Given the description of an element on the screen output the (x, y) to click on. 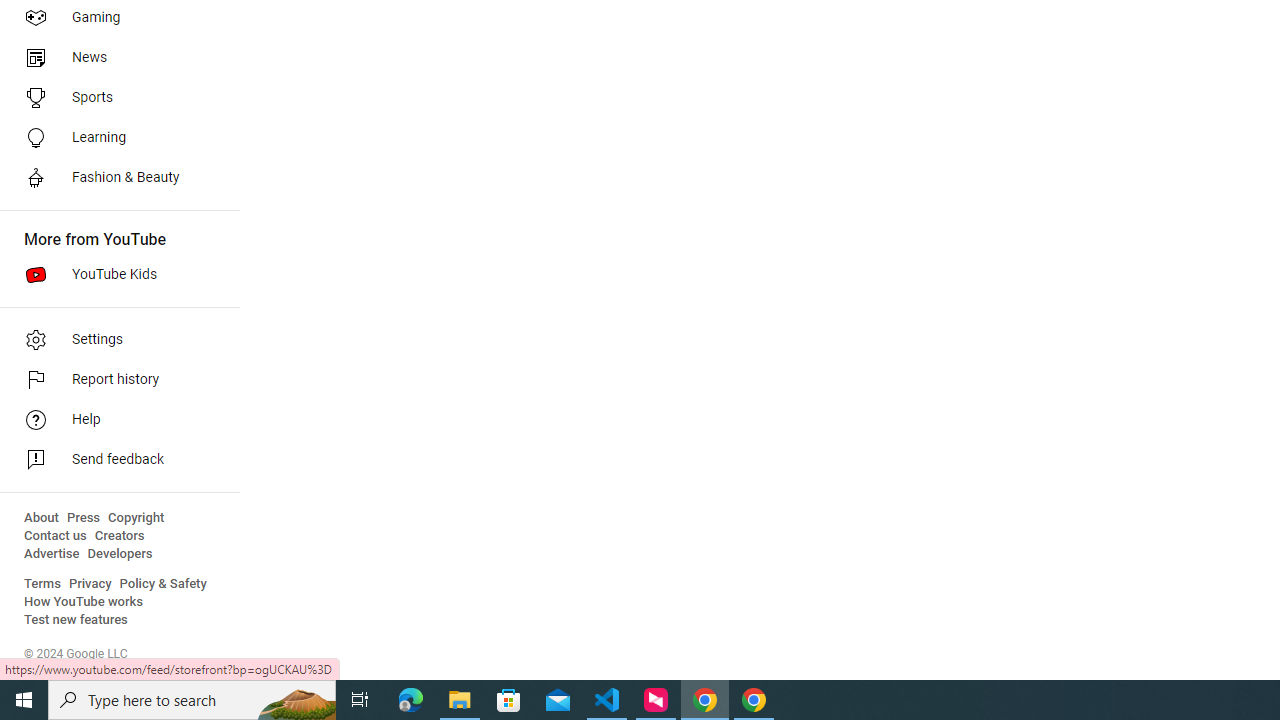
Copyright (136, 518)
Test new features (76, 620)
About (41, 518)
Contact us (55, 536)
Developers (120, 554)
Policy & Safety (163, 584)
